Given the description of an element on the screen output the (x, y) to click on. 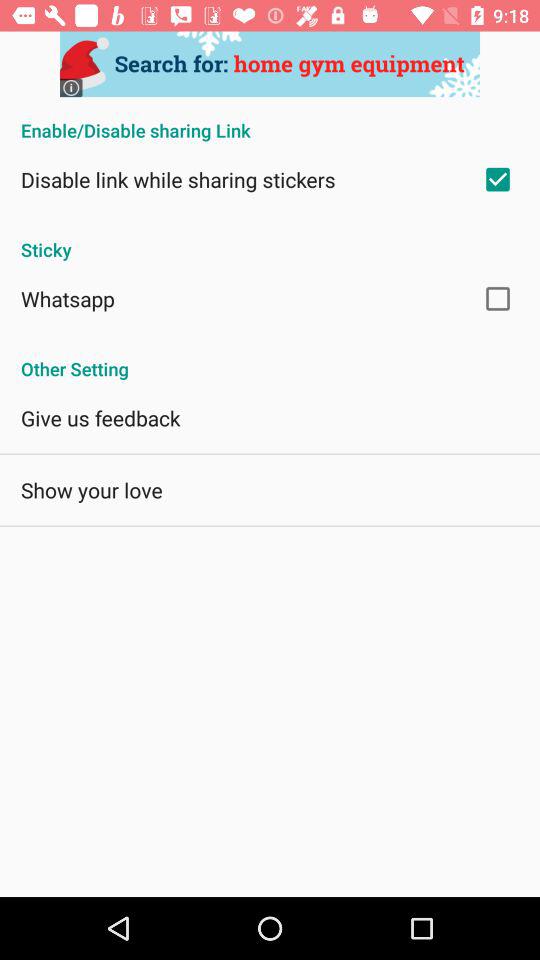
swipe until the whatsapp (67, 298)
